Given the description of an element on the screen output the (x, y) to click on. 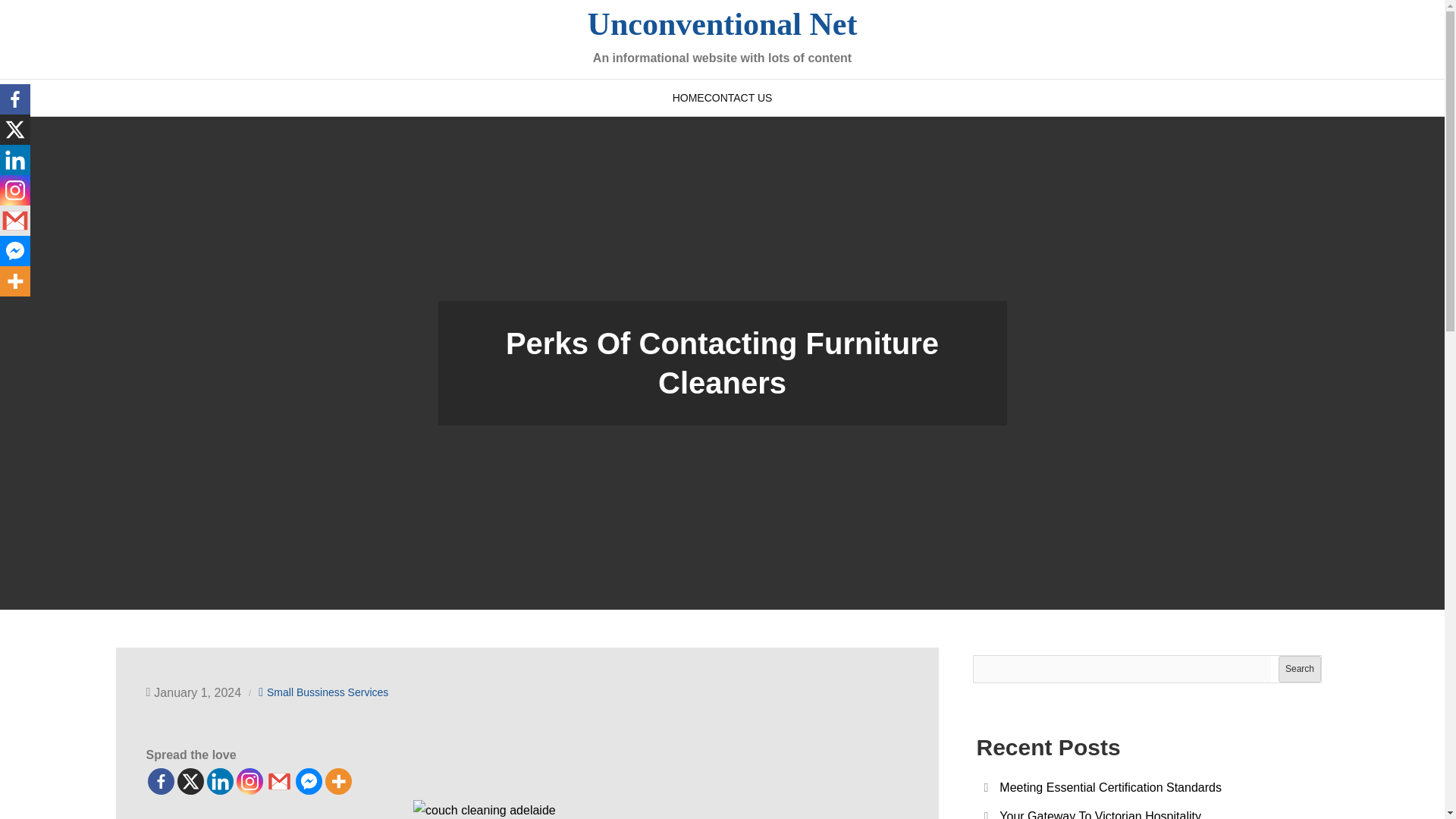
Unconventional Net (722, 23)
More (337, 781)
CONTACT US (738, 97)
Instagram (249, 781)
Linkedin (219, 781)
Small Bussiness Services (327, 691)
Instagram (15, 190)
Linkedin (15, 159)
Meeting Essential Certification Standards (1109, 787)
X (190, 781)
couch cleaning adelaide (526, 809)
X (15, 129)
Google Gmail (15, 220)
Google Gmail (278, 781)
Facebook (15, 99)
